Given the description of an element on the screen output the (x, y) to click on. 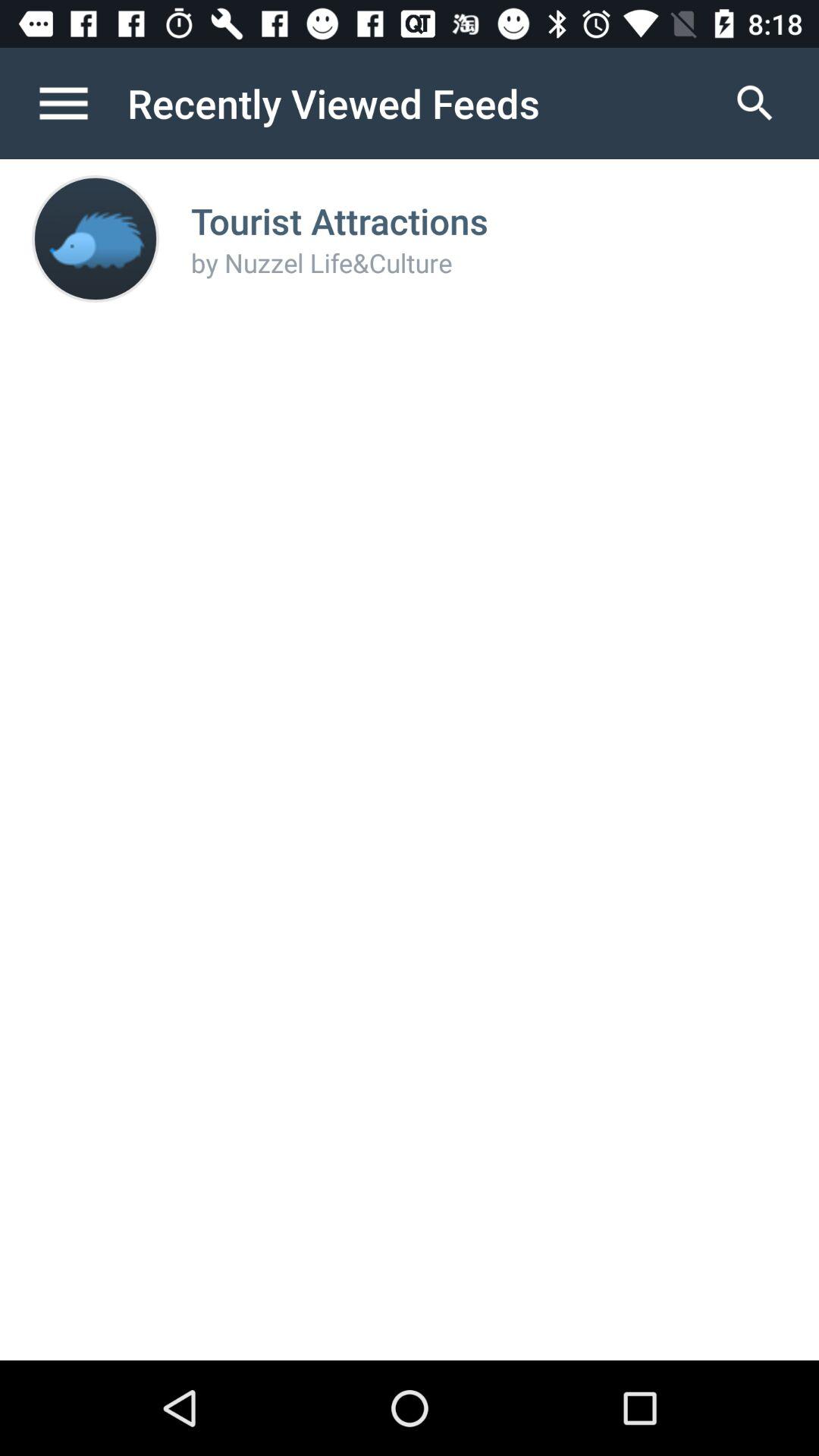
open navigation menu (79, 103)
